Given the description of an element on the screen output the (x, y) to click on. 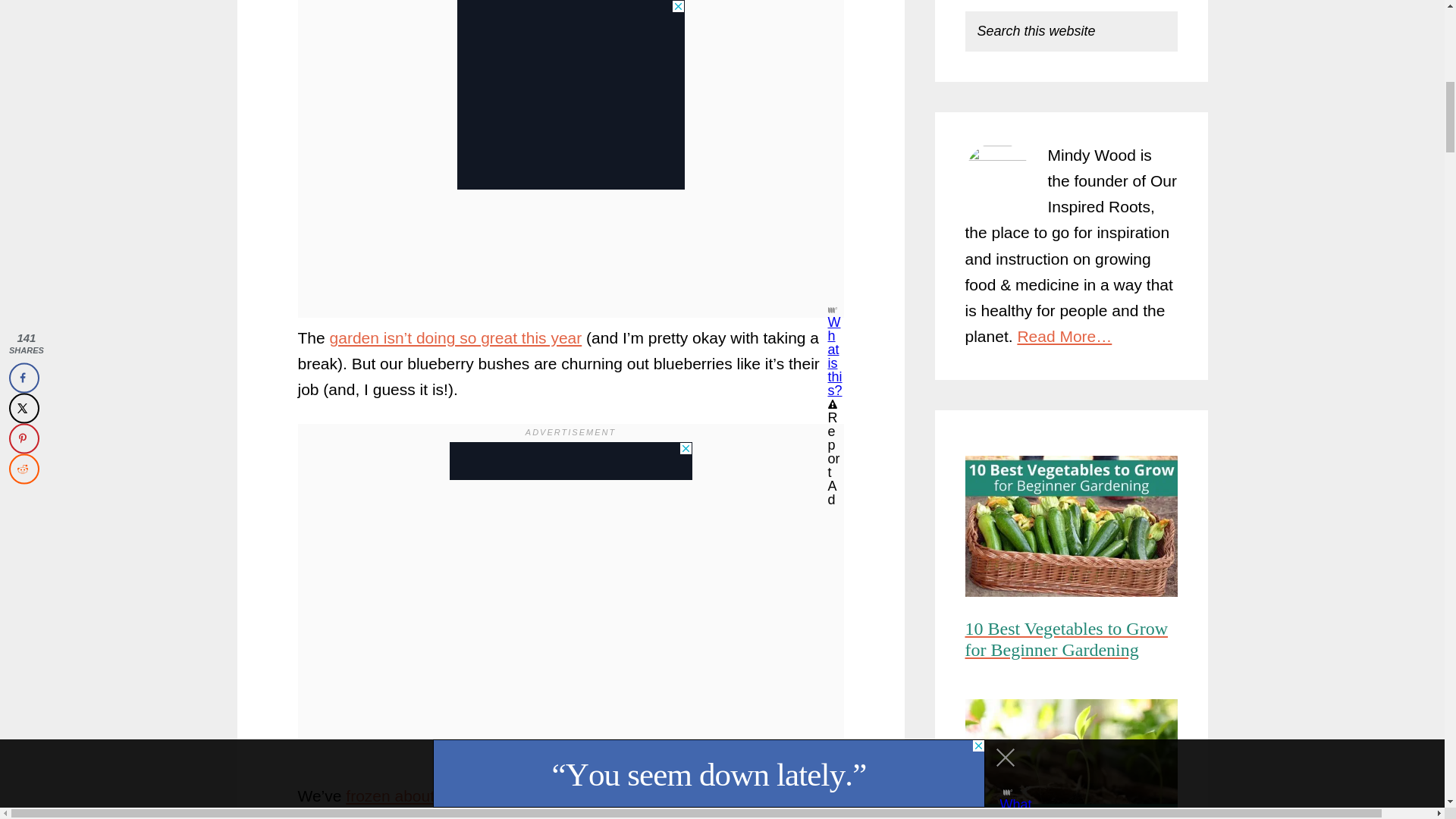
10 Best Vegetables to Grow for Beginner Gardening (1069, 528)
10 Best Vegetables to Grow for Beginner Gardening (1069, 643)
frozen about 9 gallons of blueberries (475, 795)
3rd party ad content (570, 86)
3rd party ad content (569, 460)
